Given the description of an element on the screen output the (x, y) to click on. 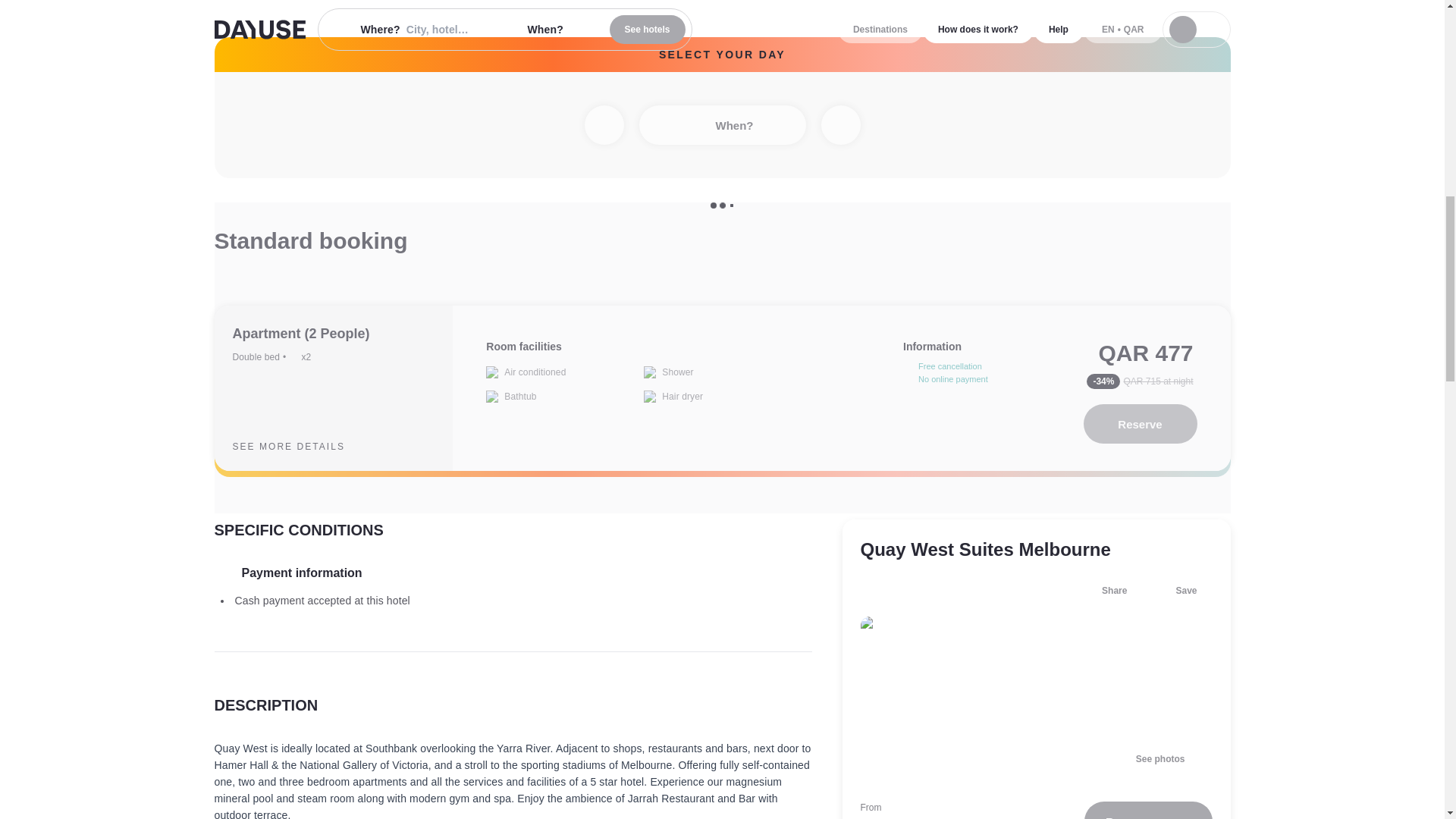
SEE MORE DETAILS (300, 446)
Next day (840, 124)
Reserve (1139, 423)
Previous day (603, 124)
When? (722, 124)
